Given the description of an element on the screen output the (x, y) to click on. 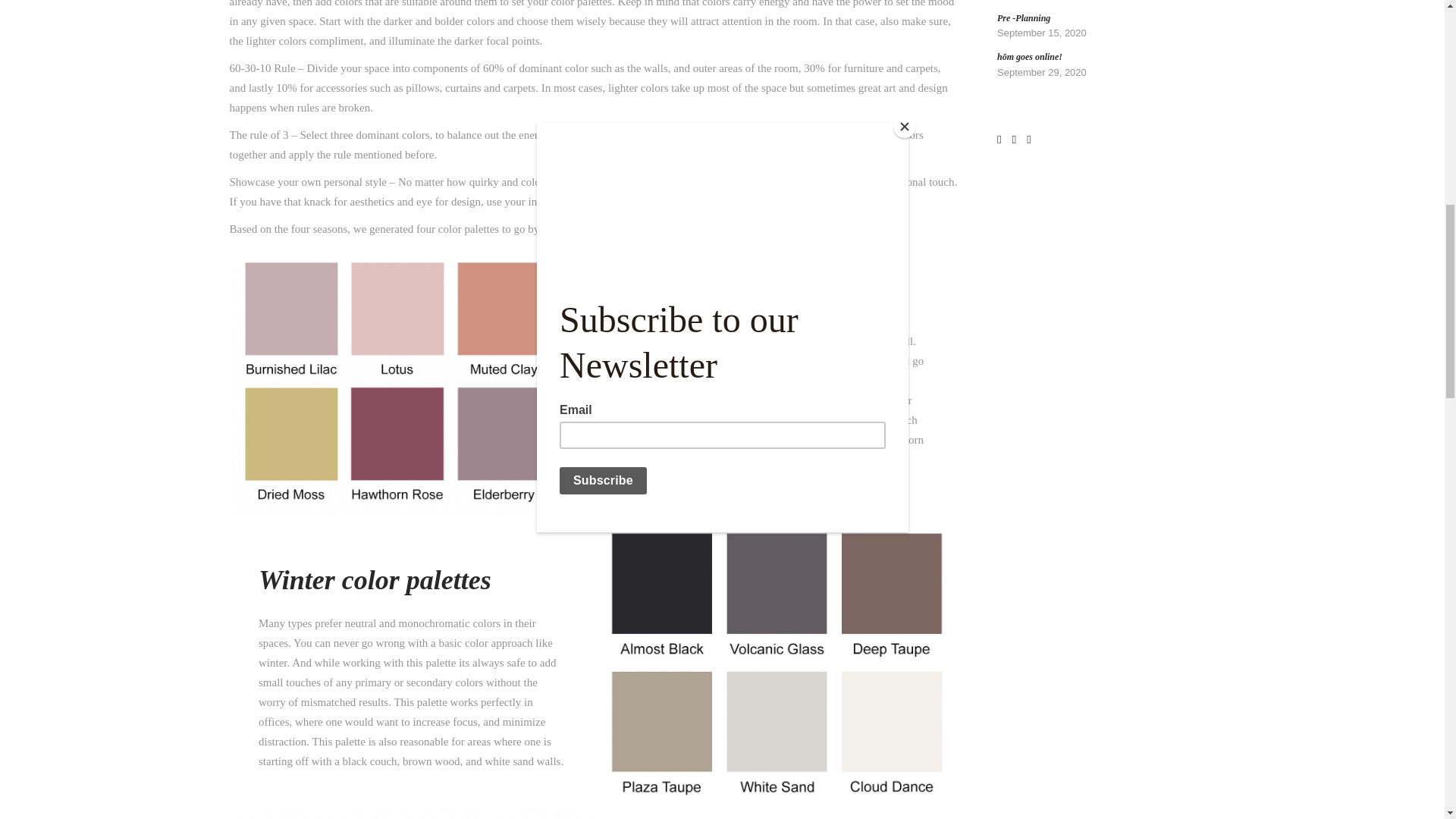
Pre -Planning (1023, 18)
